Given the description of an element on the screen output the (x, y) to click on. 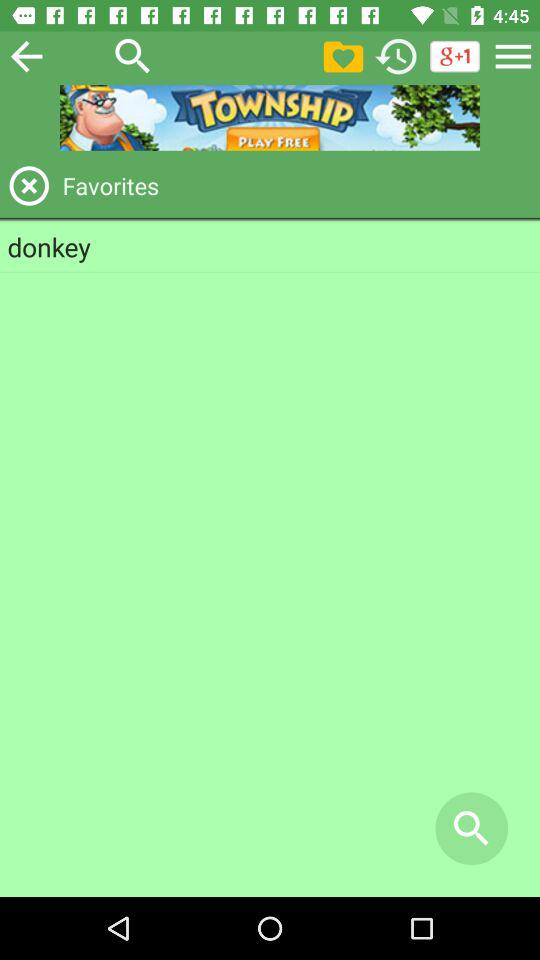
search the page (133, 56)
